Given the description of an element on the screen output the (x, y) to click on. 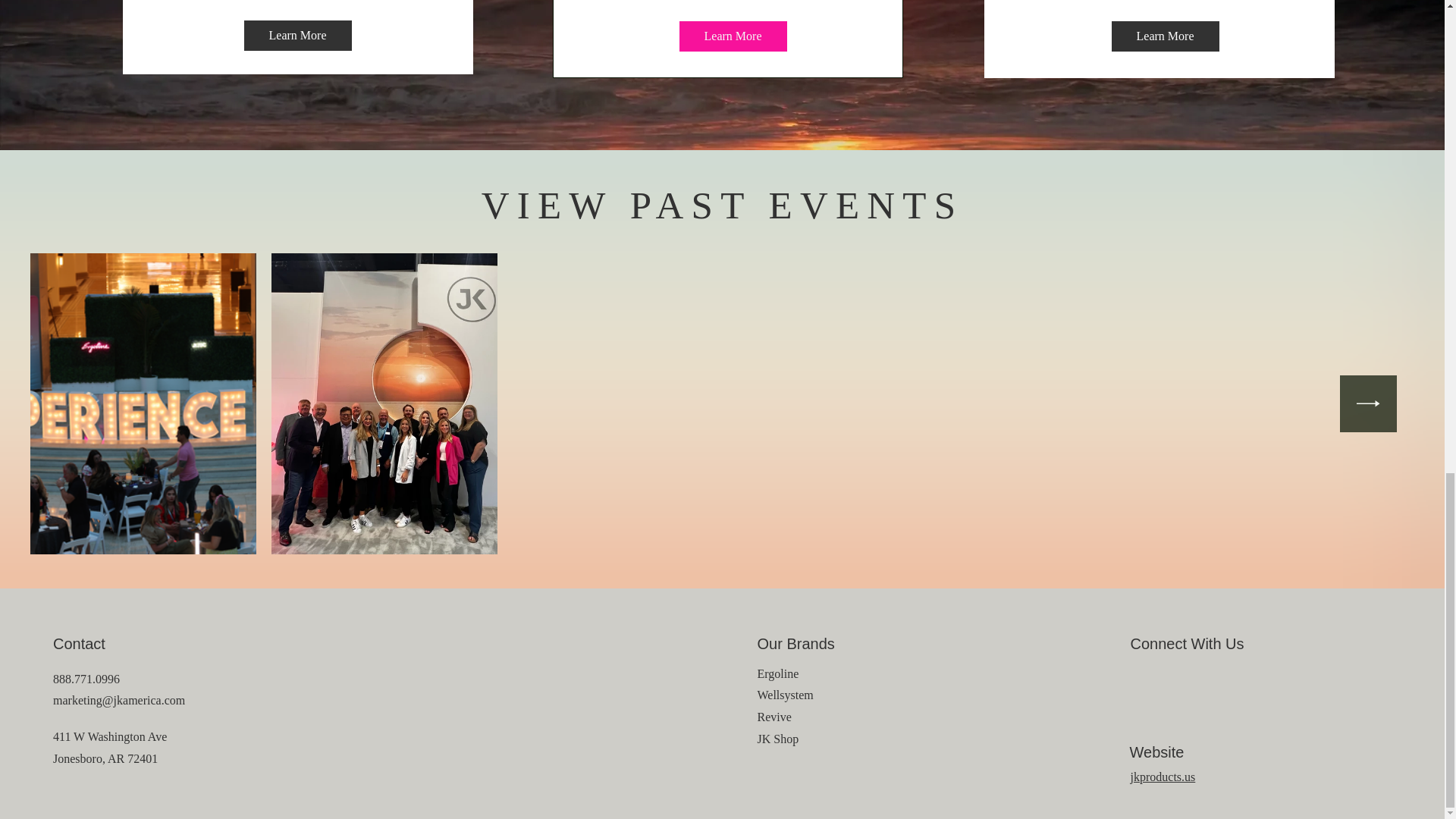
jkproducts.us (1162, 776)
Learn More (298, 35)
Learn More (733, 36)
Learn More (1166, 36)
VIEW PAST EVENTS (721, 205)
